Given the description of an element on the screen output the (x, y) to click on. 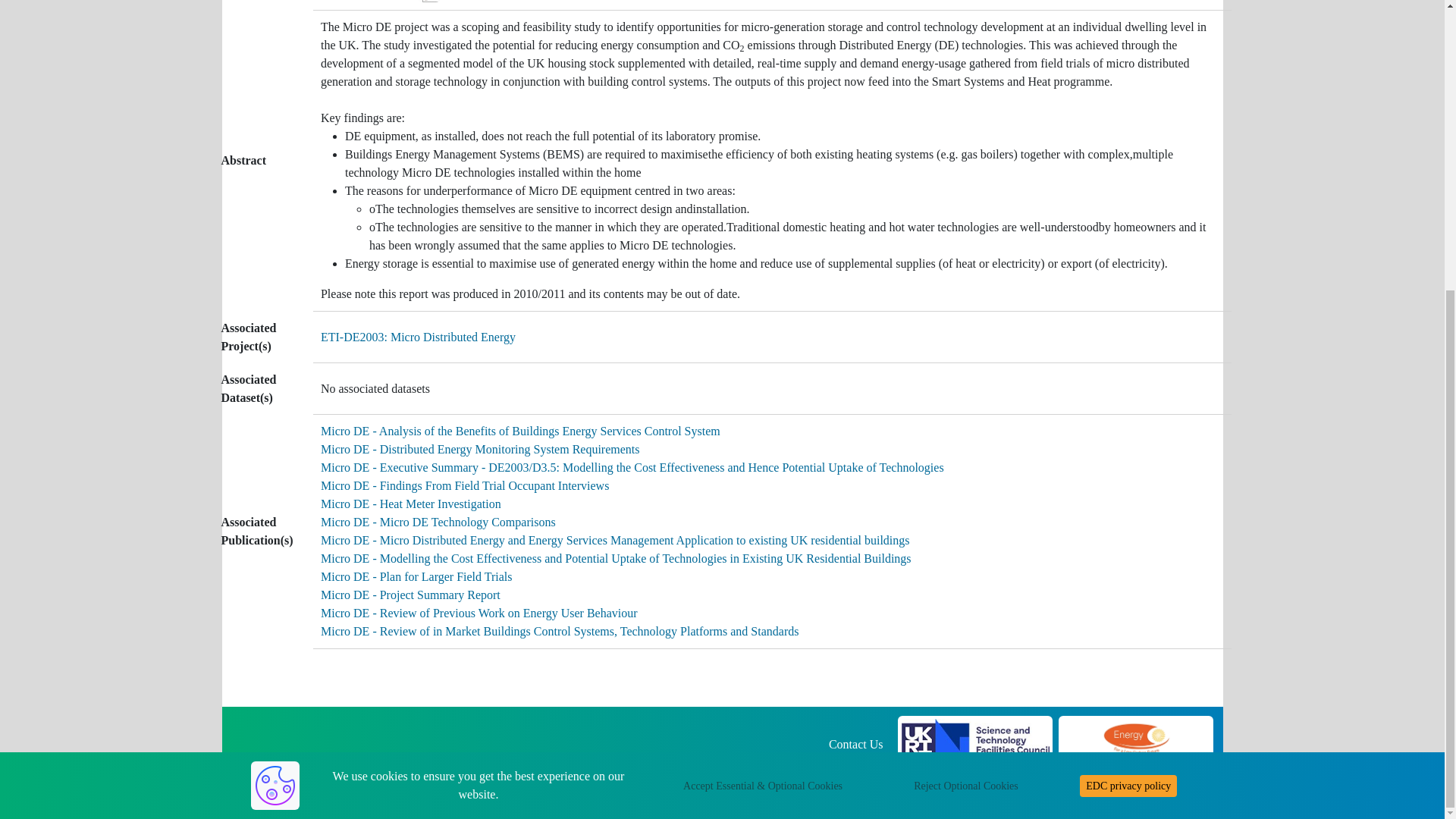
Micro DE - Plan for Larger Field Trials (416, 576)
Contact Us (855, 744)
scroll for more (1374, 347)
Privacy Policy (847, 762)
Micro DE - Distributed Energy Monitoring System Requirements (480, 449)
Disclaimer (769, 762)
Micro DE - Heat Meter Investigation (410, 503)
Micro DE - Findings From Field Trial Occupant Interviews (464, 485)
EDC privacy policy (1128, 344)
